Given the description of an element on the screen output the (x, y) to click on. 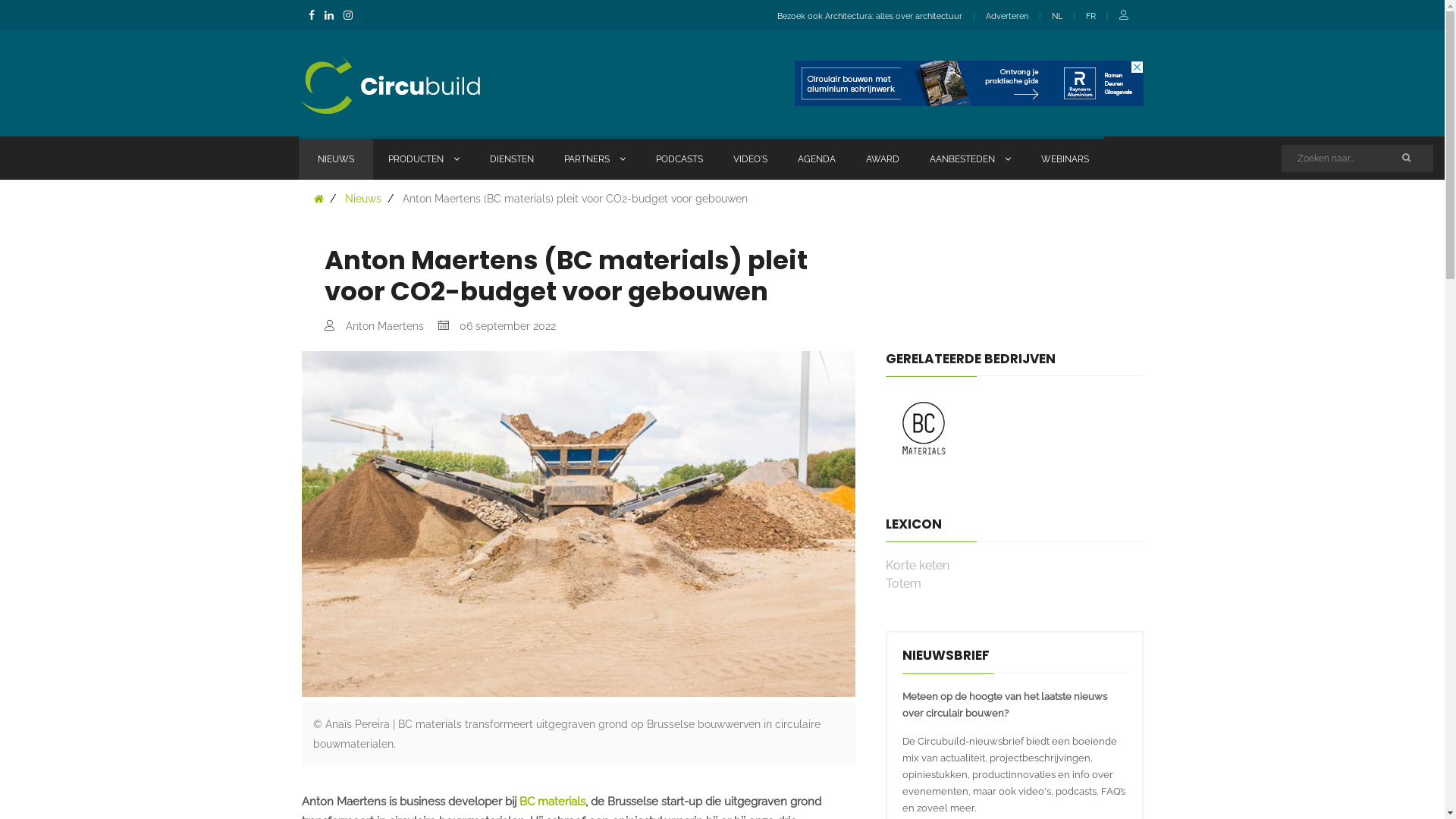
3rd party ad content Element type: hover (968, 83)
NIEUWS Element type: text (335, 157)
DIENSTEN Element type: text (511, 157)
VIDEO'S Element type: text (749, 157)
PARTNERS Element type: text (594, 157)
FR Element type: text (1090, 16)
Zoeken naar... Element type: hover (1409, 156)
NL Element type: text (1056, 16)
Adverteren Element type: text (1006, 16)
PODCASTS Element type: text (678, 157)
PRODUCTEN Element type: text (423, 157)
AANBESTEDEN Element type: text (970, 157)
AGENDA Element type: text (816, 157)
BC materials Element type: hover (923, 429)
WEBINARS Element type: text (1064, 157)
Bezoek ook Architectura: alles over architectuur Element type: text (868, 16)
Totem Element type: text (903, 583)
Korte keten Element type: text (917, 565)
BC materials Element type: text (551, 801)
Nieuws Element type: text (362, 199)
AWARD Element type: text (882, 157)
